Given the description of an element on the screen output the (x, y) to click on. 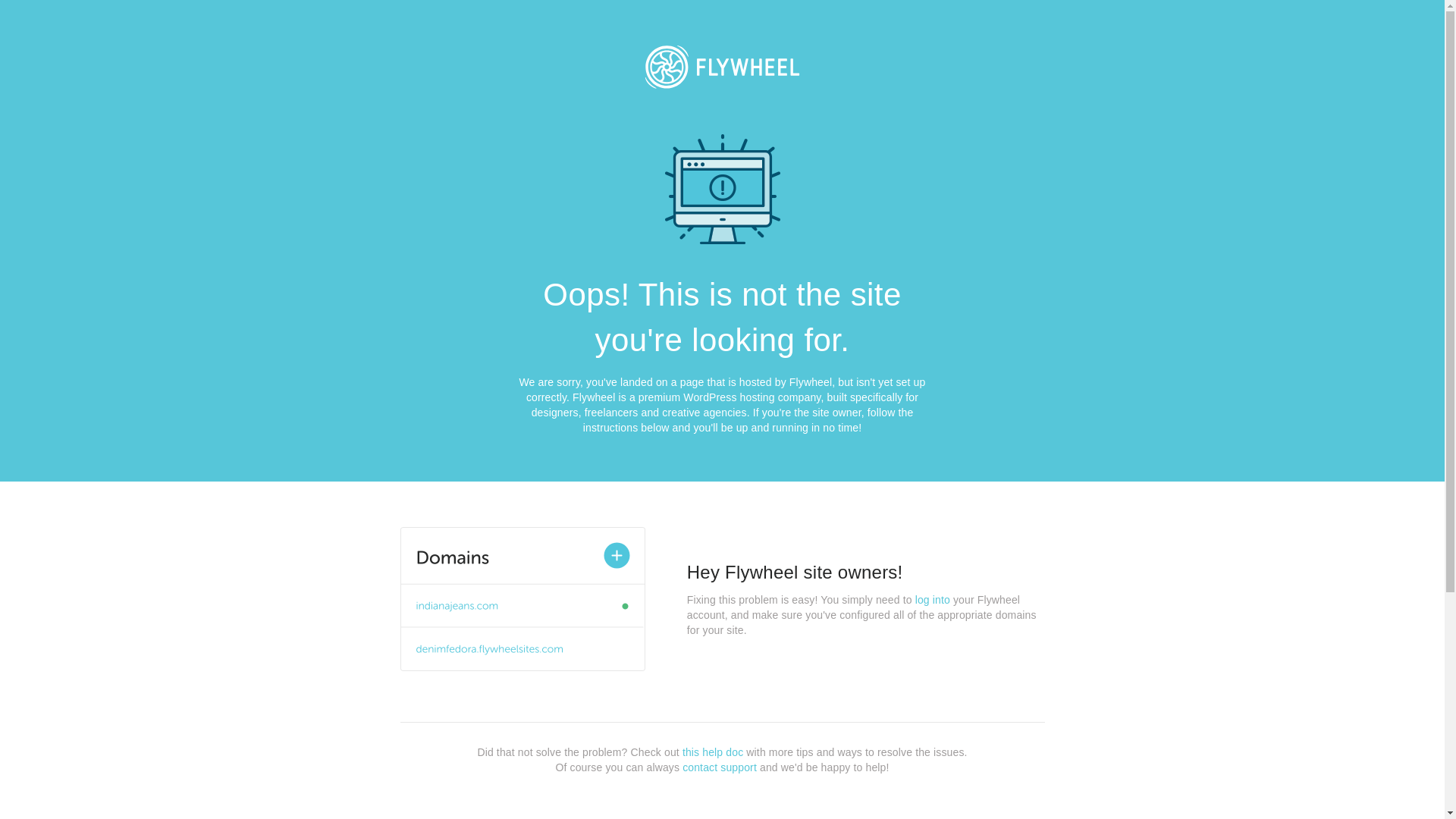
this help doc Element type: text (712, 752)
contact support Element type: text (719, 767)
log into Element type: text (932, 599)
